Given the description of an element on the screen output the (x, y) to click on. 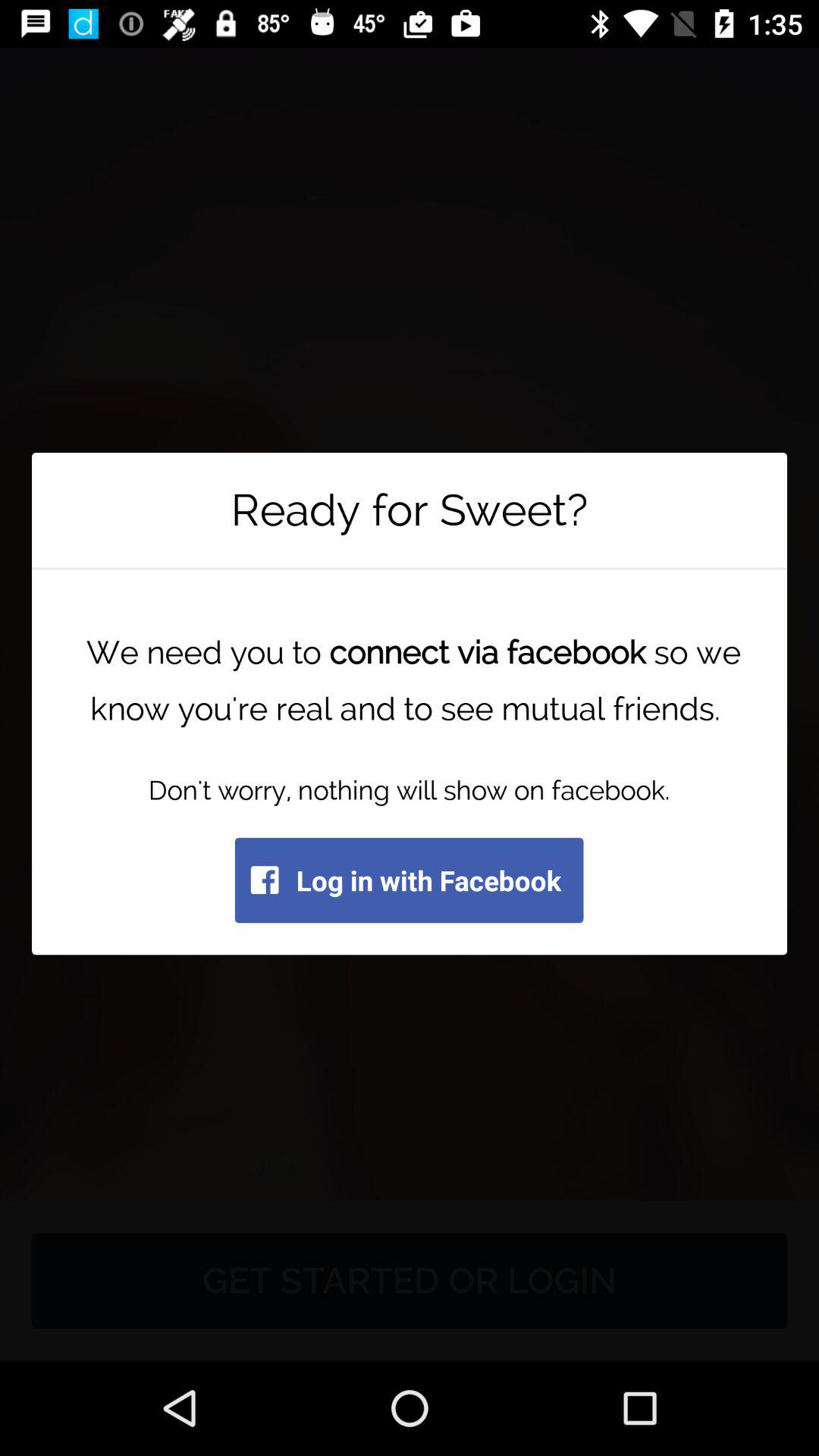
launch the log in with item (408, 880)
